Given the description of an element on the screen output the (x, y) to click on. 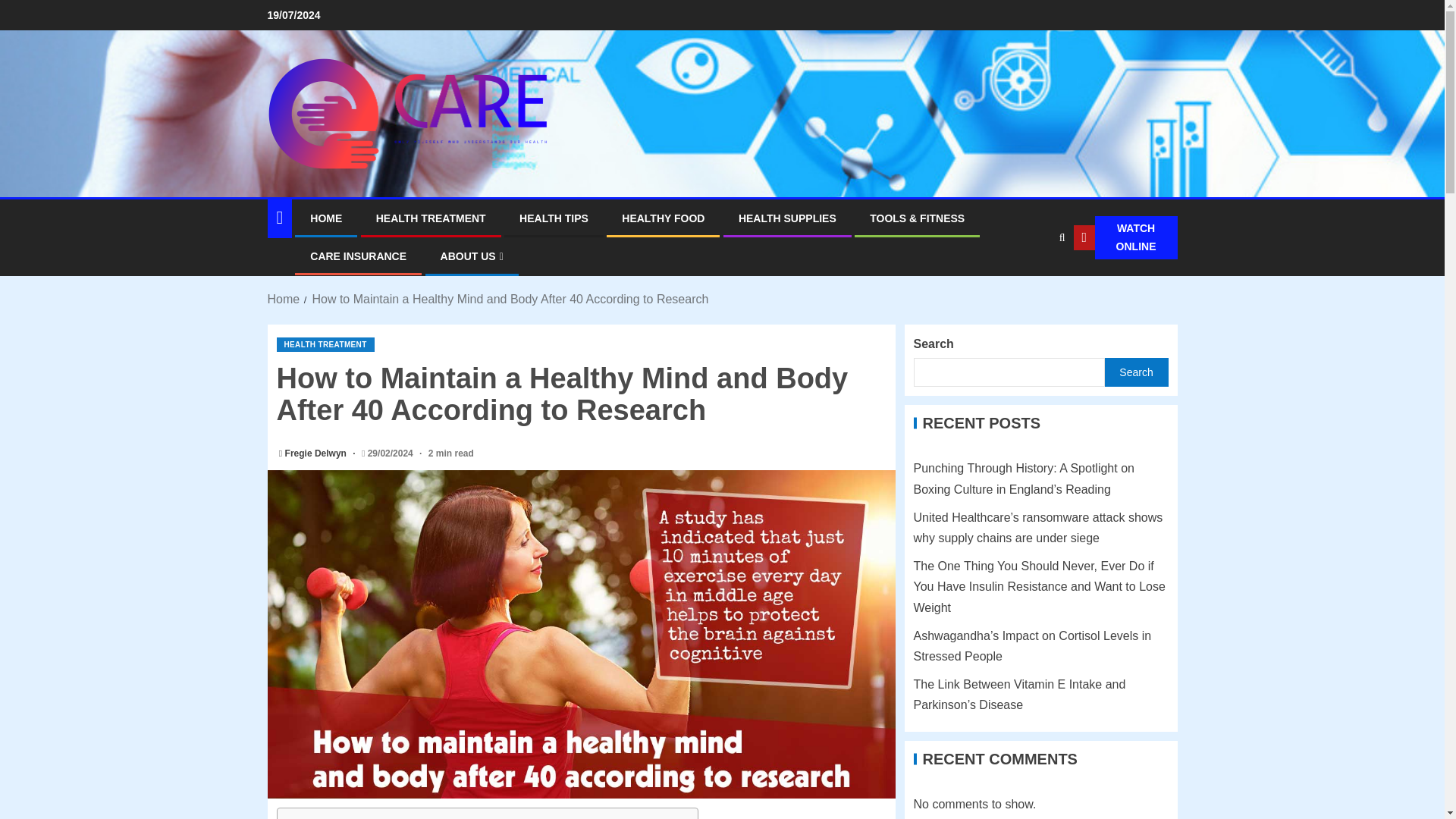
WATCH ONLINE (1125, 238)
HEALTH TREATMENT (325, 344)
HEALTHY FOOD (662, 218)
Search (1031, 284)
HOME (326, 218)
HEALTH TREATMENT (430, 218)
ABOUT US (472, 256)
HEALTH TIPS (553, 218)
Search (1062, 237)
HEALTH SUPPLIES (786, 218)
Fregie Delwyn (317, 452)
Home (282, 298)
CARE INSURANCE (358, 256)
